Given the description of an element on the screen output the (x, y) to click on. 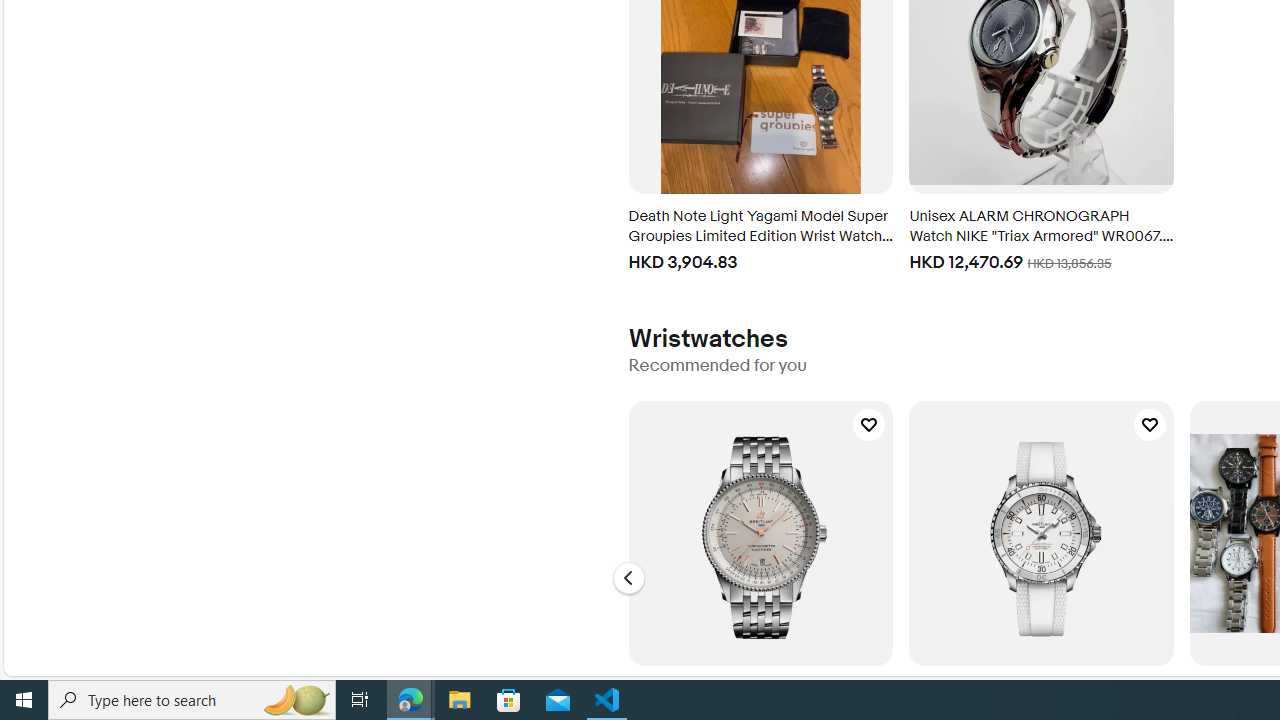
Go to the previous slide, Wristwatches - Carousel (628, 578)
Wristwatches (708, 338)
